Given the description of an element on the screen output the (x, y) to click on. 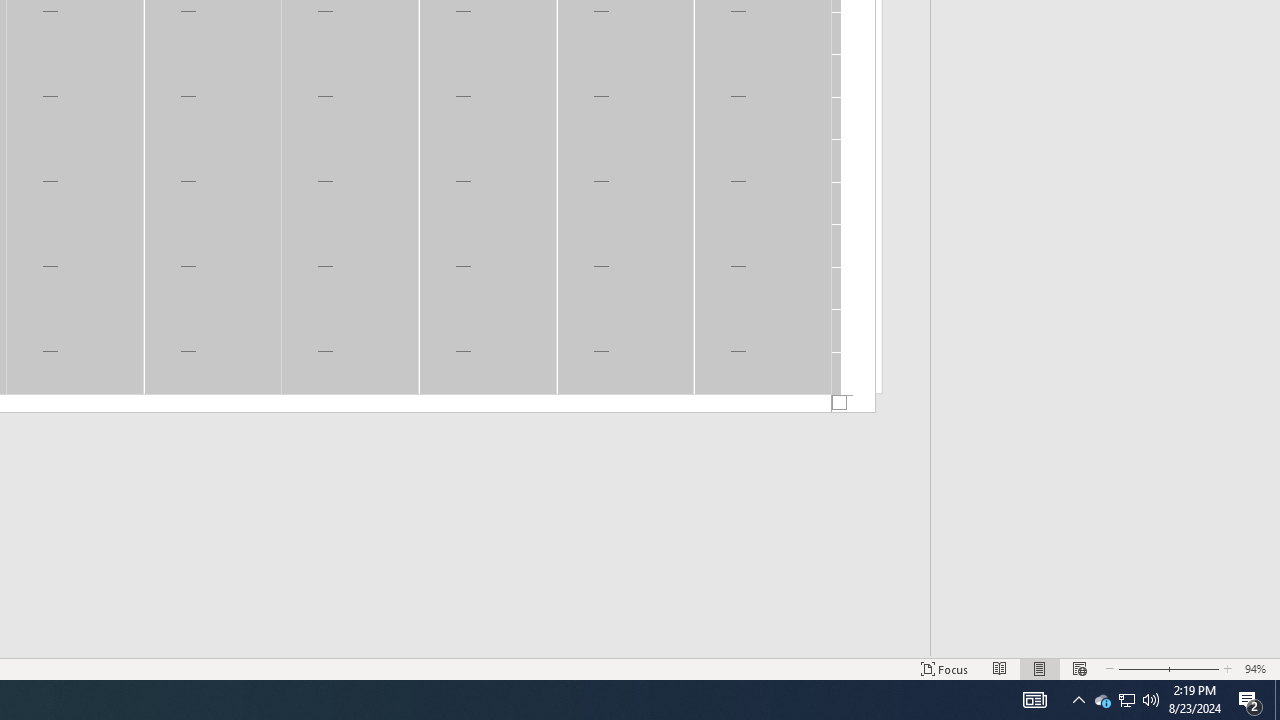
Read Mode (1000, 668)
Focus  (944, 668)
Zoom Out (1140, 668)
Web Layout (1079, 668)
Print Layout (1039, 668)
Zoom In (1193, 668)
